Given the description of an element on the screen output the (x, y) to click on. 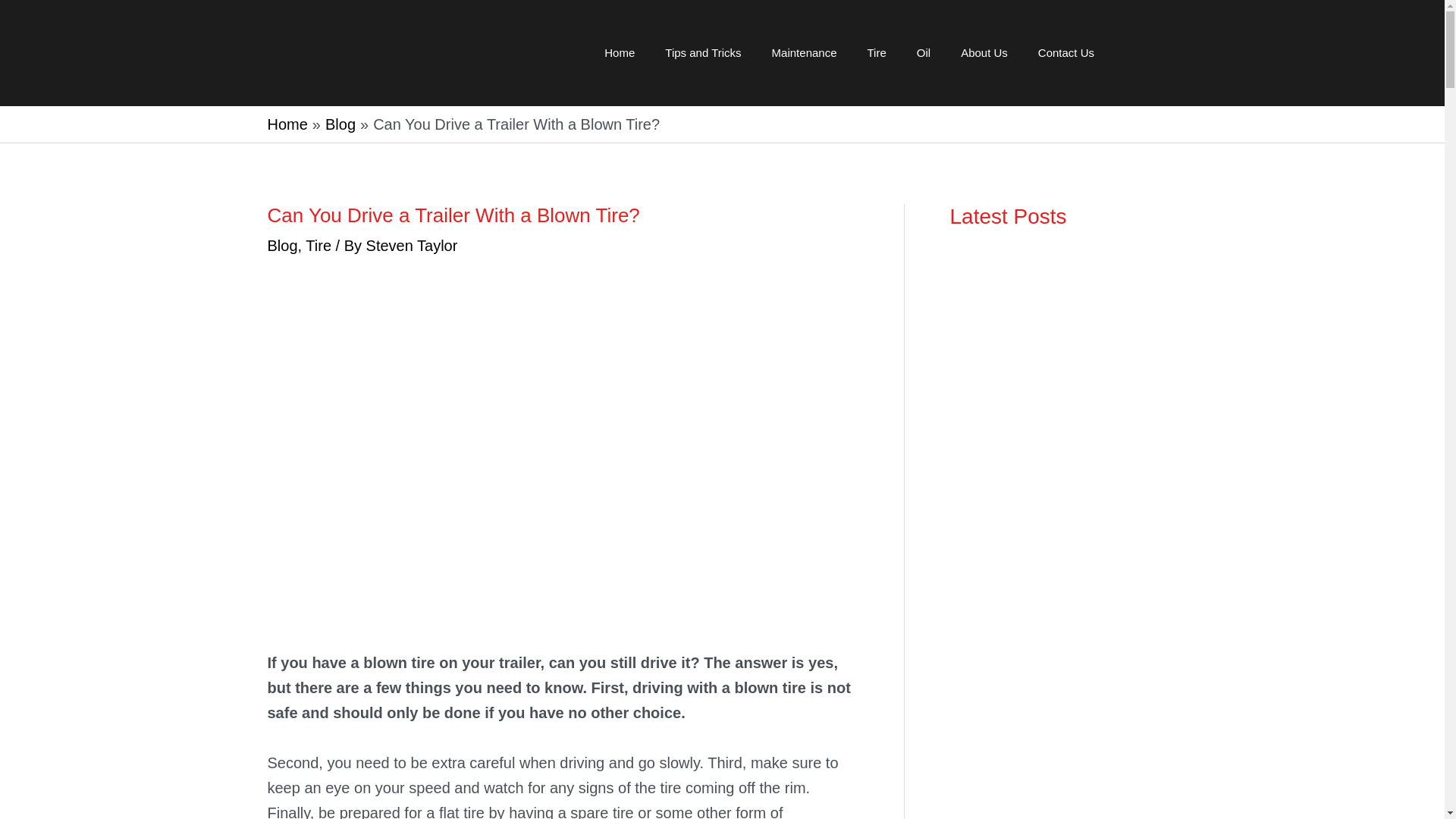
Steven Taylor (412, 245)
Blog (281, 245)
View all posts by Steven Taylor (412, 245)
Tire (318, 245)
About Us (983, 52)
Blog (339, 124)
Oil (922, 52)
Contact Us (1066, 52)
Tire (876, 52)
Tips and Tricks (702, 52)
